Given the description of an element on the screen output the (x, y) to click on. 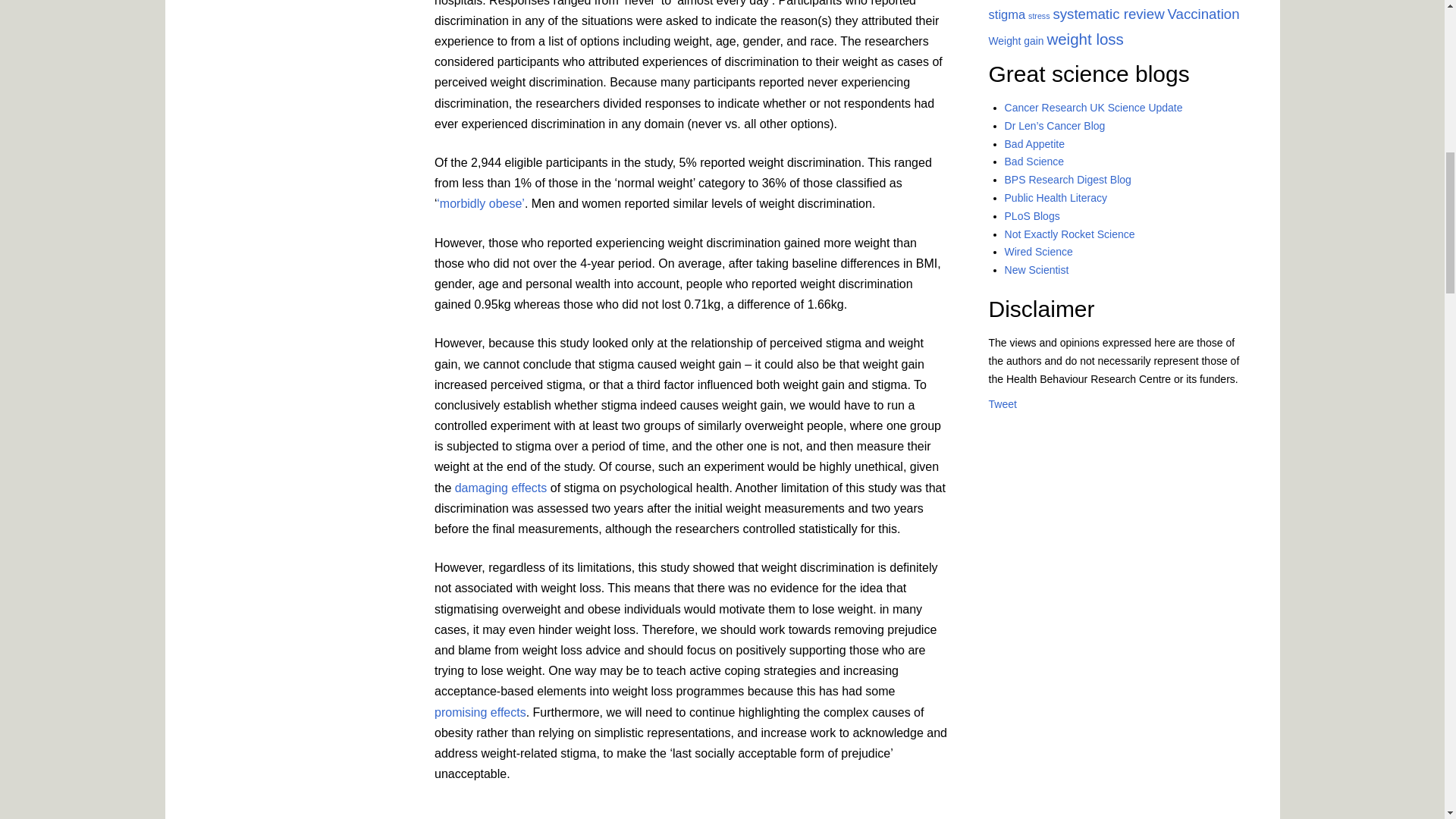
damaging effects (500, 487)
promising effects (479, 711)
